Given the description of an element on the screen output the (x, y) to click on. 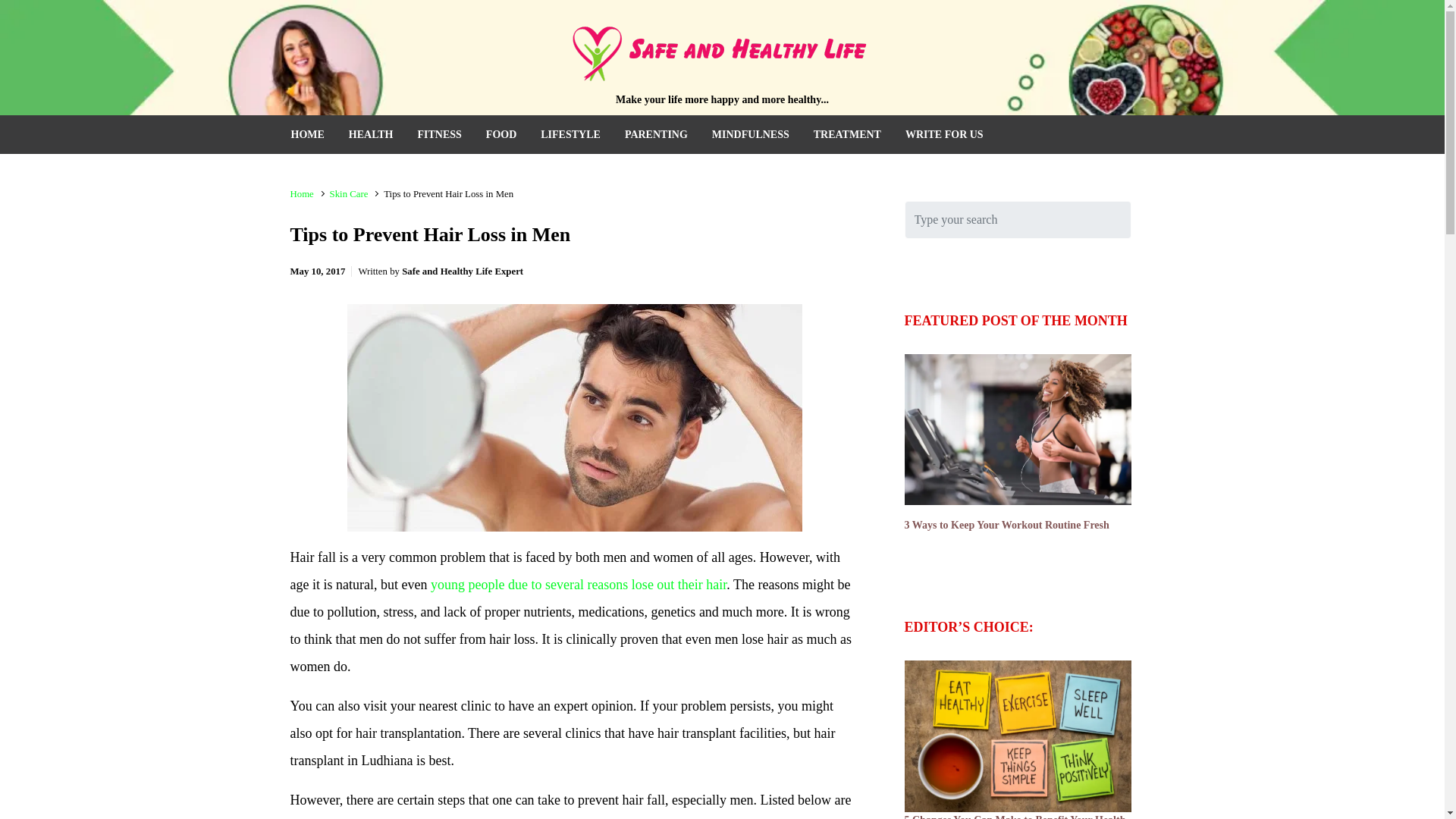
Safe and Healthy Life Expert (461, 271)
LIFESTYLE (570, 134)
TREATMENT (847, 134)
Skin Care (349, 194)
FITNESS (438, 134)
MINDFULNESS (750, 134)
young people due to several reasons lose out their hair (578, 584)
Skin Care (349, 194)
Skip to main content (20, 11)
View all posts by Safe and Healthy Life Expert (461, 271)
Home (301, 194)
HEALTH (370, 134)
WRITE FOR US (944, 134)
FOOD (501, 134)
PARENTING (656, 134)
